Given the description of an element on the screen output the (x, y) to click on. 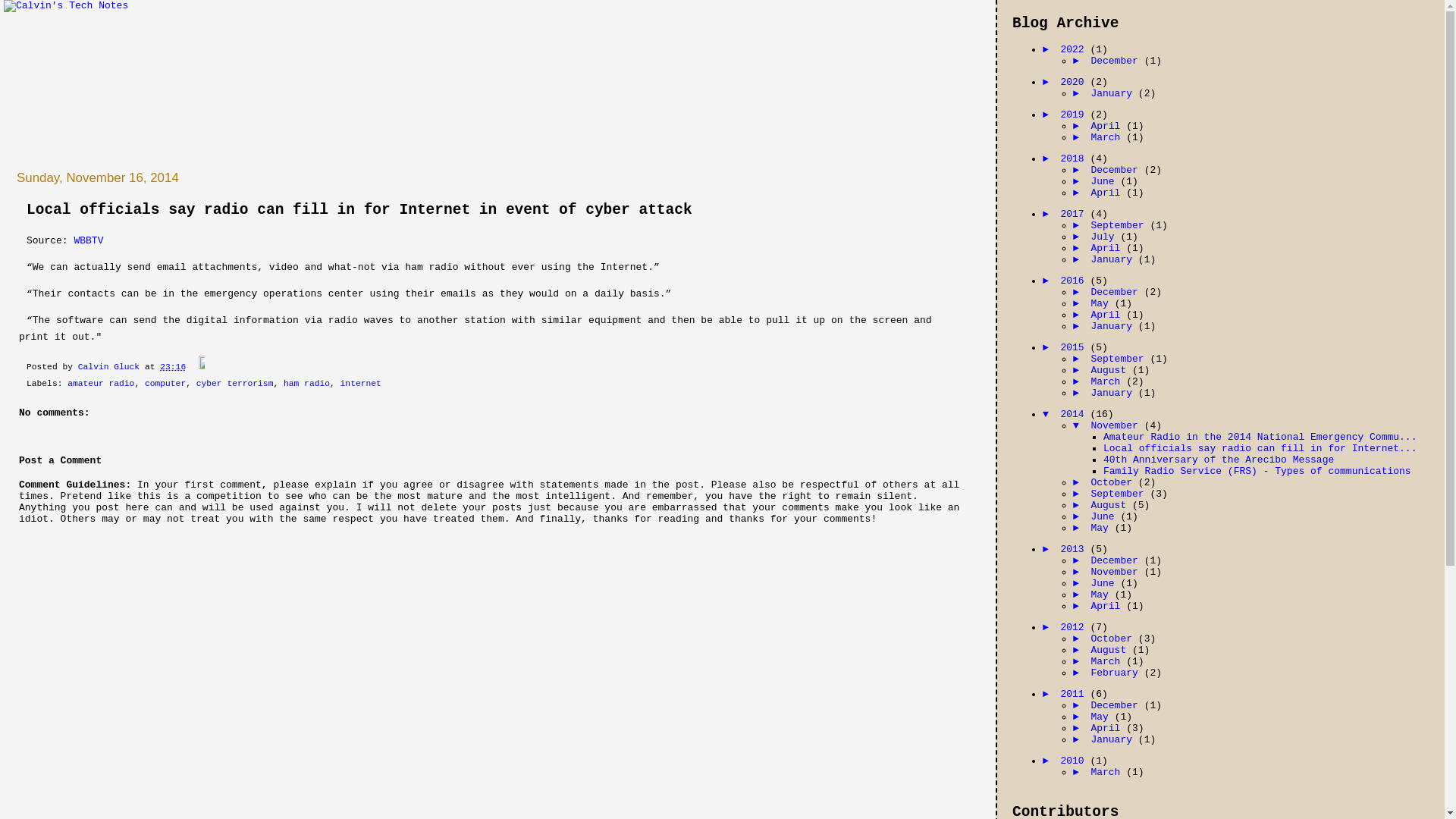
Calvin Gluck Element type: text (111, 366)
July Element type: text (1105, 236)
August Element type: text (1111, 649)
March Element type: text (1108, 137)
2018 Element type: text (1074, 158)
April Element type: text (1108, 728)
June Element type: text (1105, 516)
2020 Element type: text (1074, 81)
November Element type: text (1116, 571)
December Element type: text (1116, 560)
40th Anniversary of the Arecibo Message Element type: text (1218, 459)
2016 Element type: text (1074, 280)
December Element type: text (1116, 60)
2013 Element type: text (1074, 549)
November Element type: text (1116, 425)
2017 Element type: text (1074, 213)
December Element type: text (1116, 705)
August Element type: text (1111, 505)
April Element type: text (1108, 192)
2019 Element type: text (1074, 114)
May Element type: text (1101, 303)
WBBTV Element type: text (88, 240)
October Element type: text (1113, 638)
Amateur Radio in the 2014 National Emergency Commu... Element type: text (1259, 436)
May Element type: text (1101, 527)
ham radio Element type: text (306, 383)
2015 Element type: text (1074, 347)
March Element type: text (1108, 381)
internet Element type: text (360, 383)
April Element type: text (1108, 605)
March Element type: text (1108, 661)
August Element type: text (1111, 370)
2014 Element type: text (1074, 414)
January Element type: text (1113, 259)
May Element type: text (1101, 594)
May Element type: text (1101, 716)
April Element type: text (1108, 125)
January Element type: text (1113, 739)
Edit Post Element type: hover (197, 366)
September Element type: text (1119, 225)
October Element type: text (1113, 482)
April Element type: text (1108, 314)
June Element type: text (1105, 181)
February Element type: text (1116, 672)
Family Radio Service (FRS) - Types of communications Element type: text (1257, 470)
January Element type: text (1113, 93)
January Element type: text (1113, 326)
June Element type: text (1105, 583)
2010 Element type: text (1074, 760)
December Element type: text (1116, 292)
2012 Element type: text (1074, 627)
September Element type: text (1119, 358)
January Element type: text (1113, 392)
Local officials say radio can fill in for Internet... Element type: text (1259, 448)
April Element type: text (1108, 248)
2022 Element type: text (1074, 49)
amateur radio Element type: text (100, 383)
2011 Element type: text (1074, 693)
cyber terrorism Element type: text (234, 383)
December Element type: text (1116, 169)
computer Element type: text (164, 383)
23:16 Element type: text (172, 366)
September Element type: text (1119, 493)
March Element type: text (1108, 772)
